Given the description of an element on the screen output the (x, y) to click on. 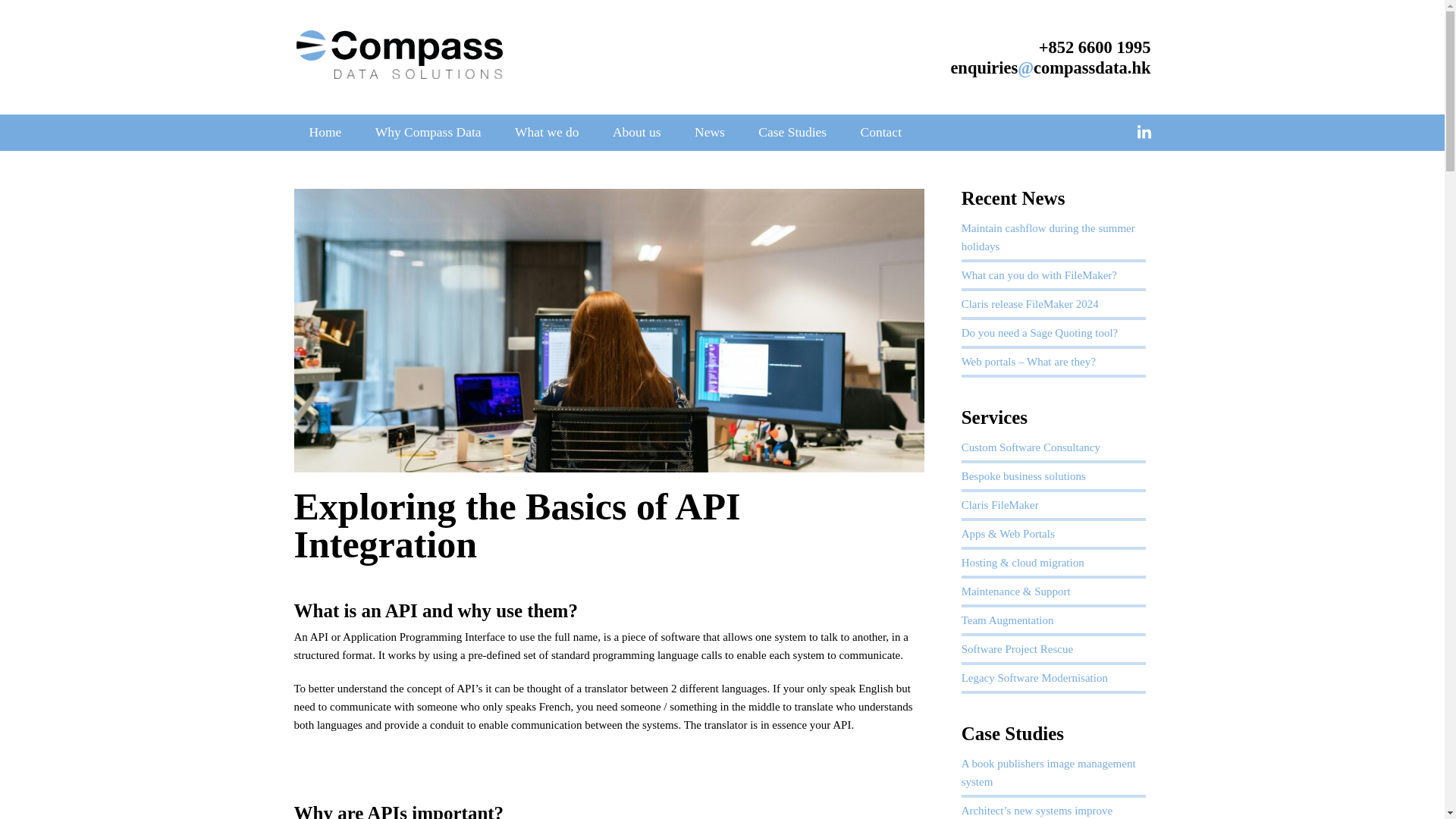
Custom Software Consultancy (1030, 447)
Case Studies (791, 132)
Contact (881, 132)
Bespoke business solutions (1023, 476)
Legacy Software Modernisation (1034, 677)
Claris FileMaker (999, 504)
News (709, 132)
Team Augmentation (1007, 620)
What can you do with FileMaker? (1038, 275)
Do you need a Sage Quoting tool? (1039, 332)
Claris release FileMaker 2024   (1032, 304)
What we do (546, 132)
Maintain cashflow during the summer holidays (1047, 236)
Why Compass Data (427, 132)
Software Project Rescue (1016, 648)
